Given the description of an element on the screen output the (x, y) to click on. 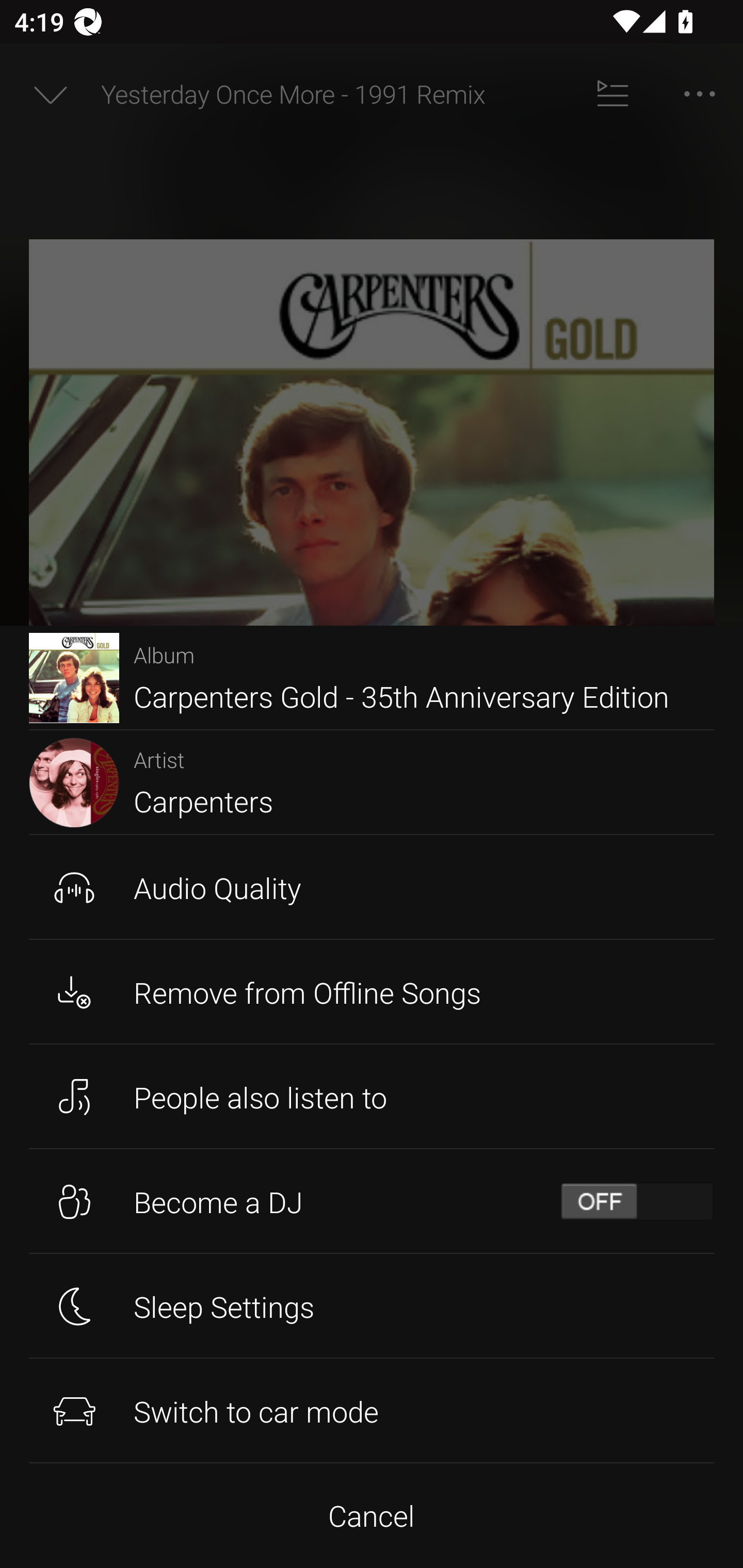
Album Carpenters Gold - 35th Anniversary Edition (371, 677)
Artist Carpenters (371, 782)
Audio Quality (371, 887)
Remove from Offline Songs (371, 991)
People also listen to (371, 1096)
button_broadcast_off (636, 1201)
Sleep Settings (371, 1305)
Switch to car mode (371, 1409)
Cancel (371, 1515)
